Given the description of an element on the screen output the (x, y) to click on. 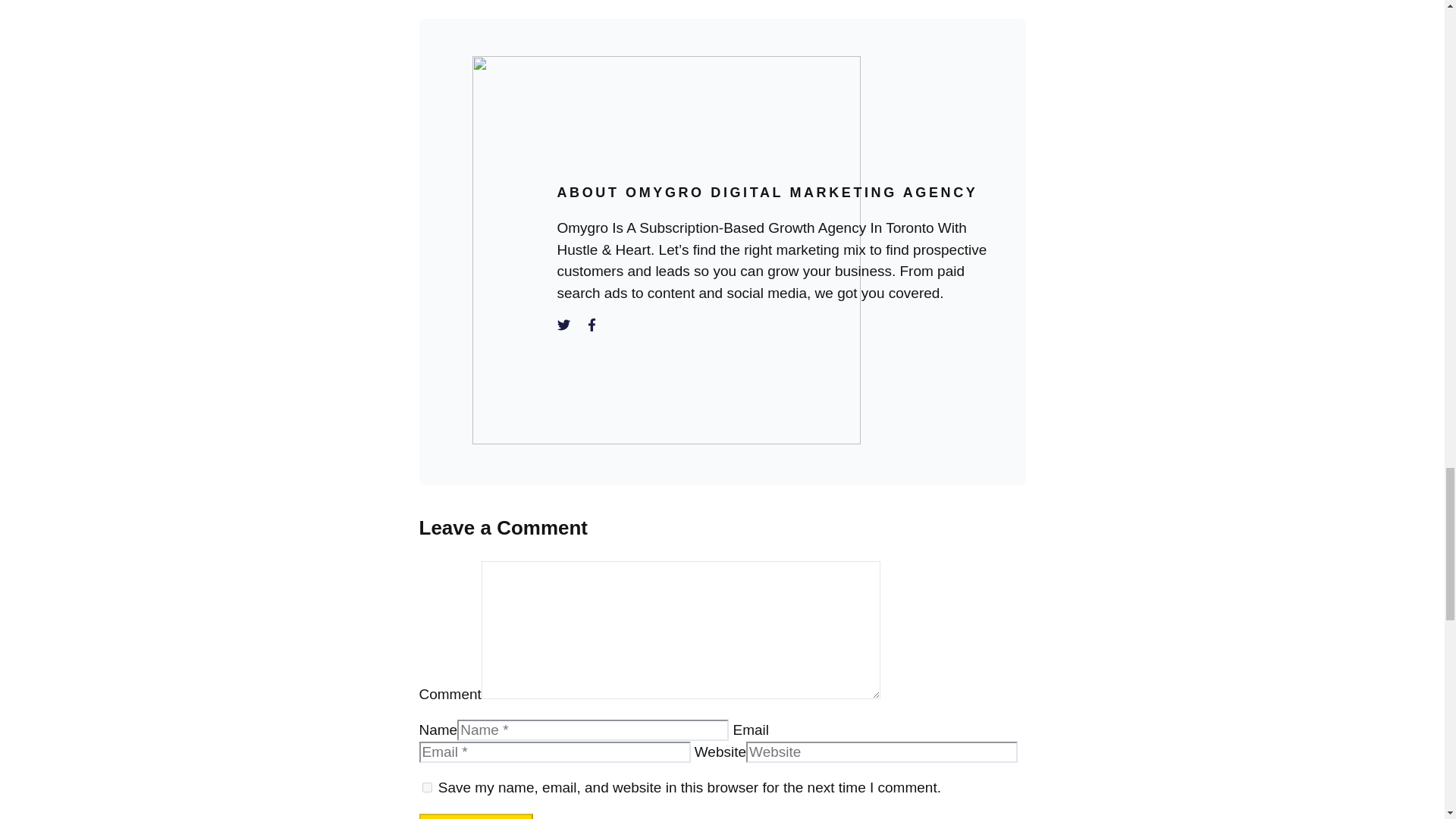
Post Comment (475, 816)
yes (426, 787)
Post Comment (475, 816)
